Given the description of an element on the screen output the (x, y) to click on. 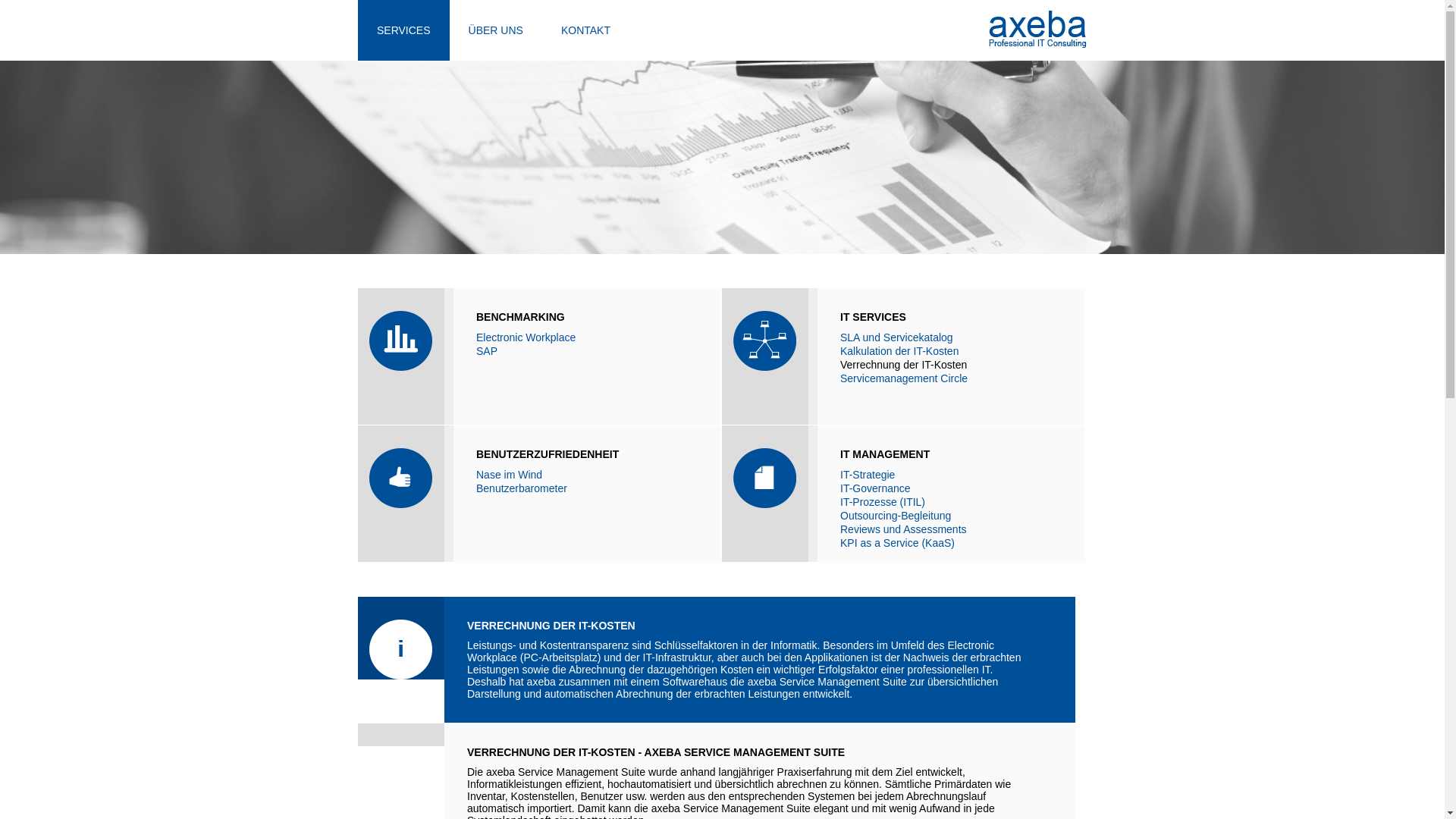
SERVICES Element type: text (403, 30)
IT-Strategie Element type: text (951, 474)
IT-Prozesse (ITIL) Element type: text (951, 501)
Servicemanagement Circle Element type: text (951, 378)
IT-Governance Element type: text (951, 488)
Nase im Wind Element type: text (587, 474)
SLA und Servicekatalog Element type: text (951, 337)
Electronic Workplace Element type: text (587, 337)
SAP Element type: text (587, 350)
Outsourcing-Begleitung Element type: text (951, 515)
Benutzerbarometer Element type: text (587, 488)
Verrechnung der IT-Kosten Element type: text (951, 364)
Kalkulation der IT-Kosten Element type: text (951, 350)
Reviews und Assessments Element type: text (951, 529)
KONTAKT Element type: text (585, 30)
KPI as a Service (KaaS) Element type: text (951, 542)
